Given the description of an element on the screen output the (x, y) to click on. 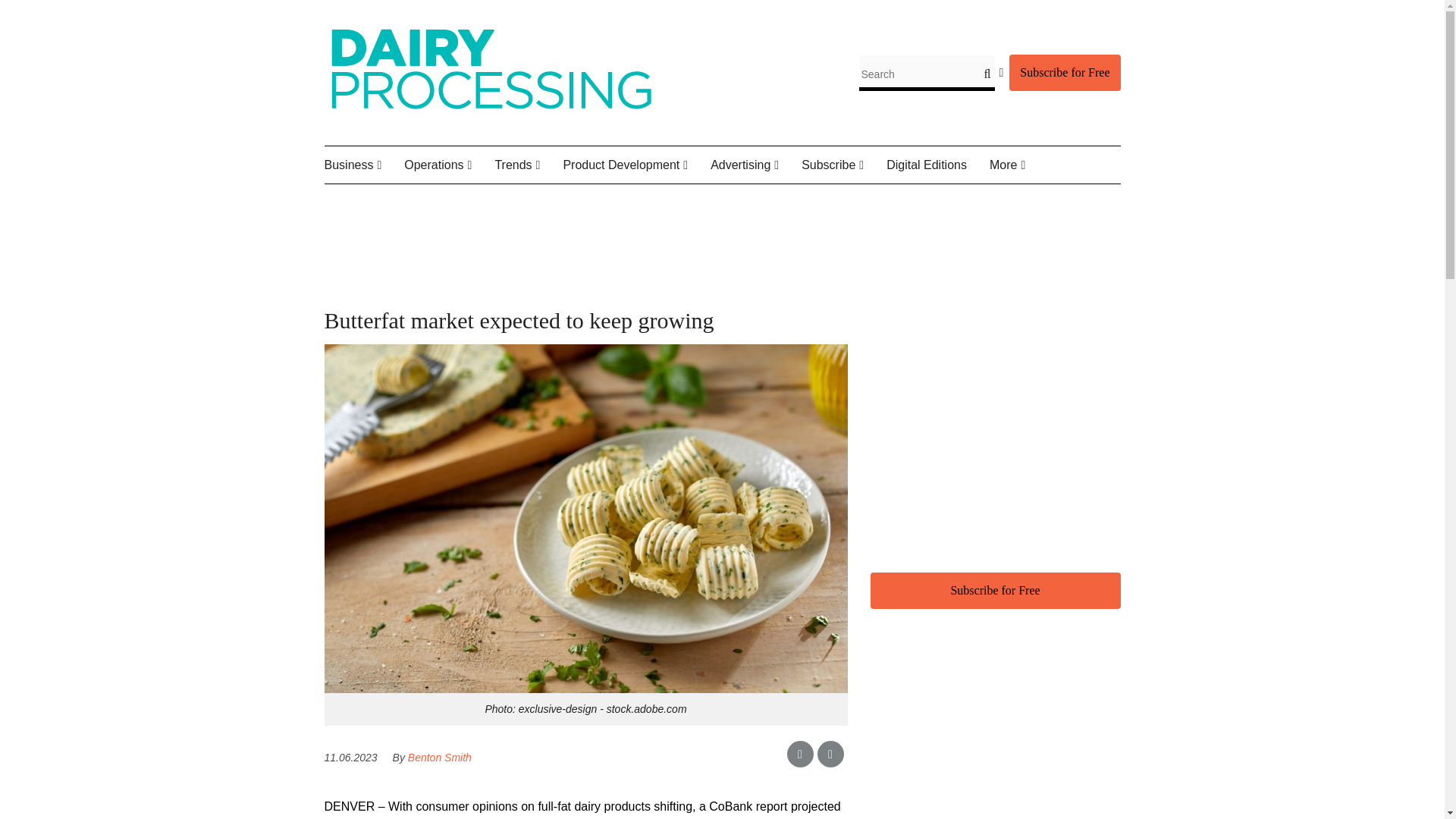
Newsletter Subscriptions (889, 211)
New Products (650, 200)
Subscribe (844, 165)
Regulatory (497, 200)
Packaging (491, 200)
Companies (407, 200)
Dairy Processing (491, 112)
More (1019, 165)
Media Guide (785, 200)
Operations (449, 165)
